Given the description of an element on the screen output the (x, y) to click on. 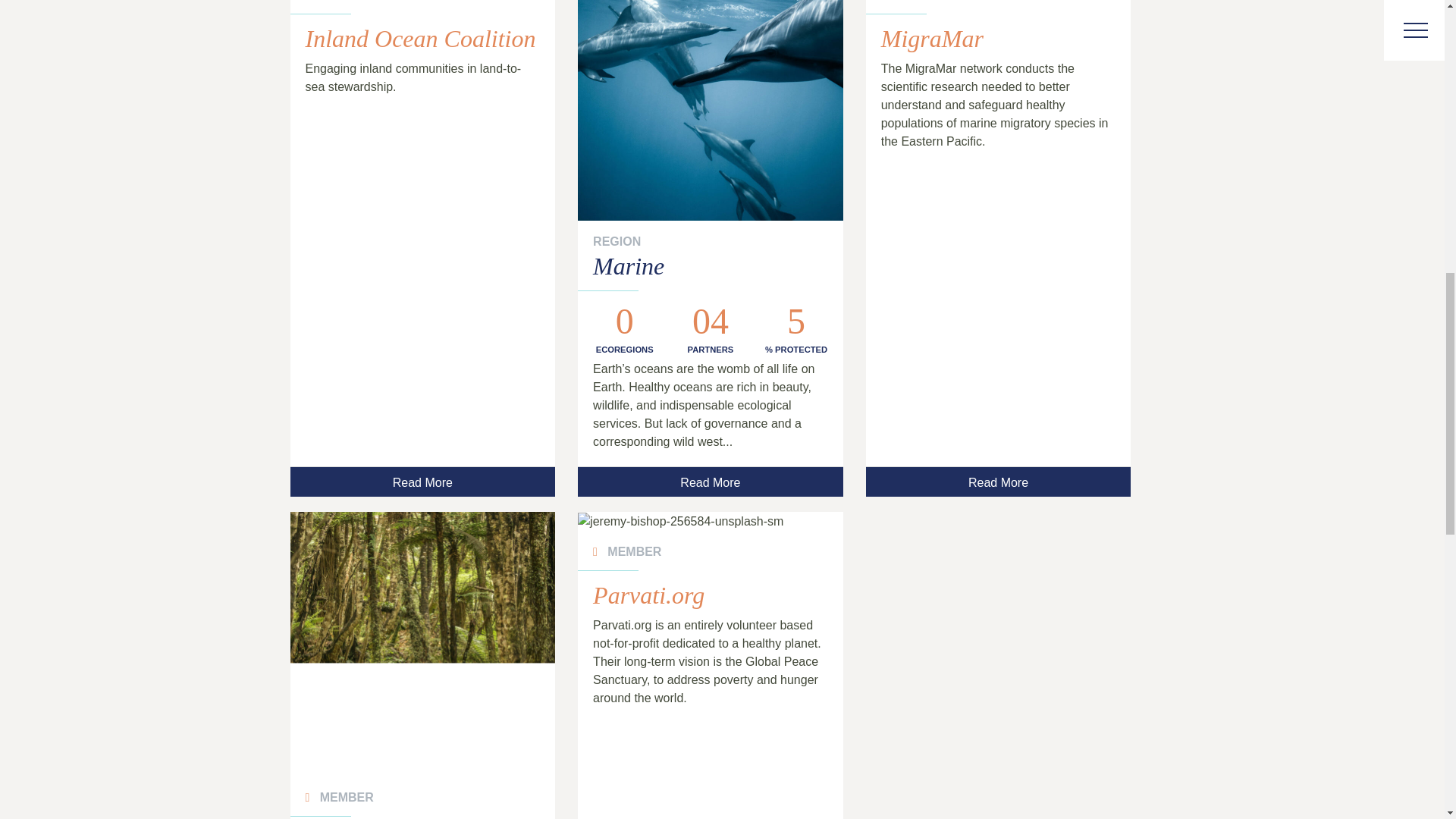
Read More (710, 481)
Read More (998, 481)
Read More (421, 481)
jeremy-bishop-256584-unsplash-sm (710, 521)
